Given the description of an element on the screen output the (x, y) to click on. 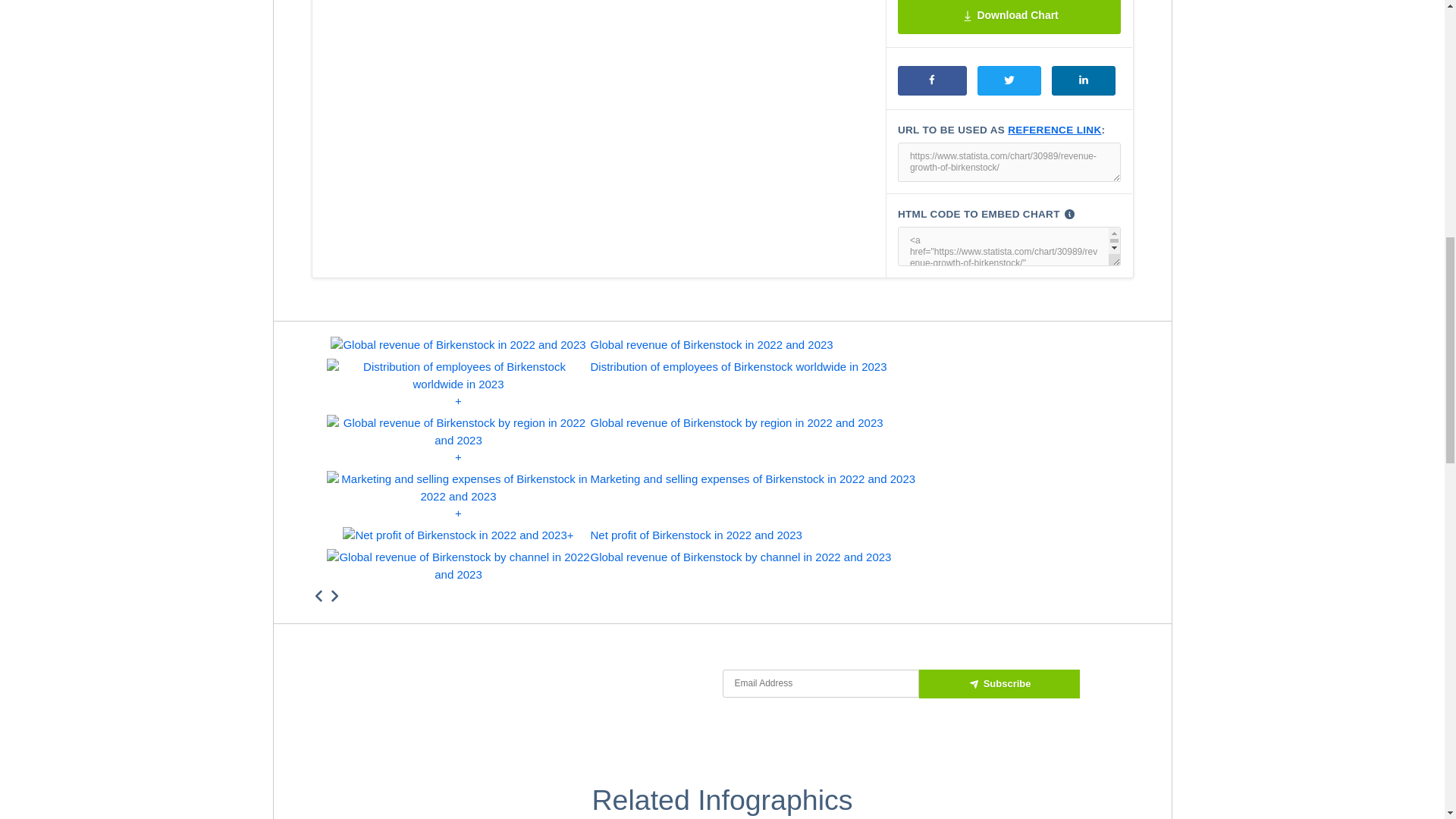
Share on LinkedIn (1083, 80)
Download Chart (1009, 17)
Share on Twitter (1008, 80)
Share on Facebook (932, 80)
